Given the description of an element on the screen output the (x, y) to click on. 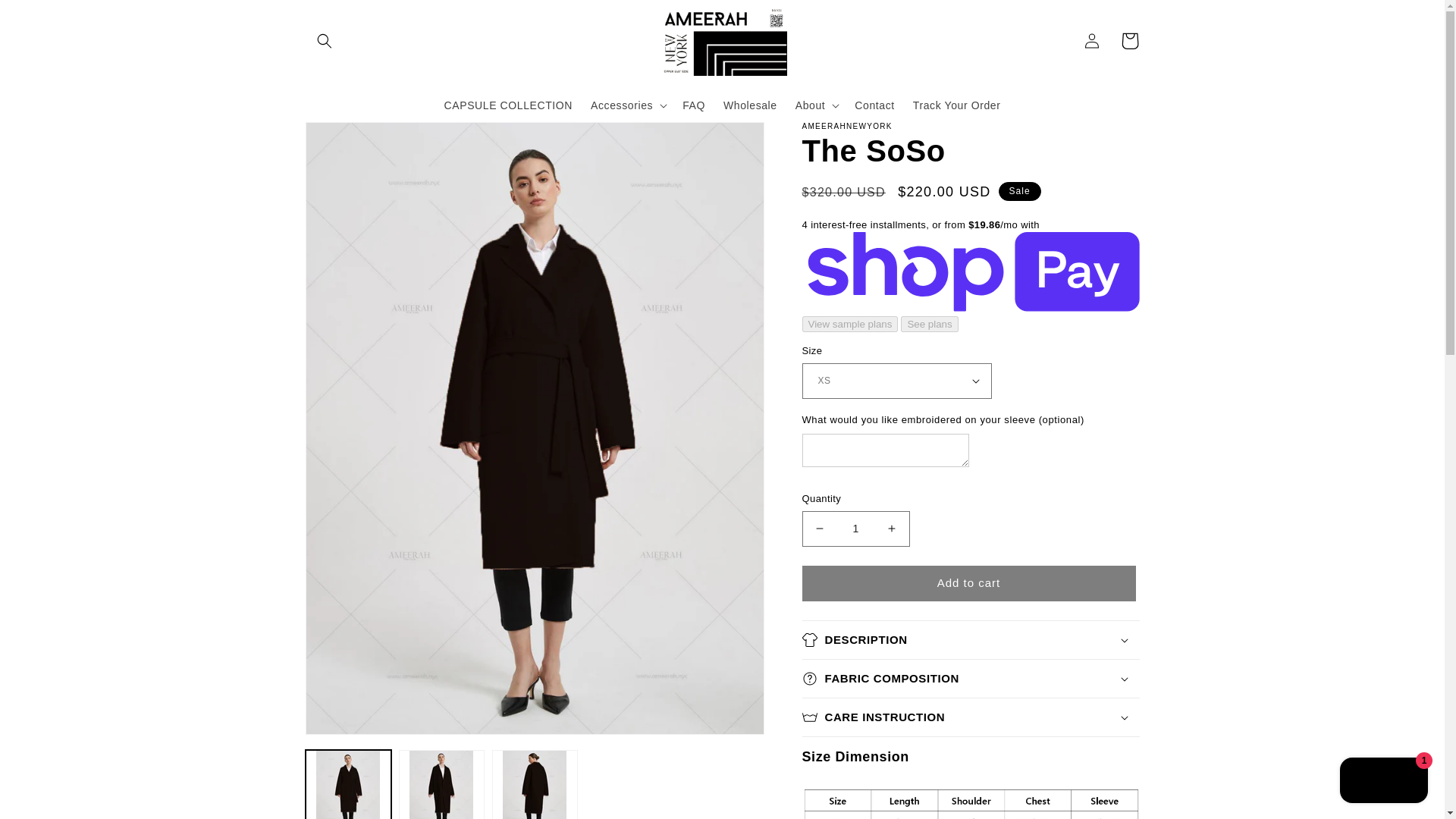
Log in (1090, 40)
Skip to product information (350, 139)
Skip to content (45, 17)
FAQ (693, 105)
1 (856, 529)
Contact (873, 105)
CAPSULE COLLECTION (508, 105)
Shopify online store chat (1383, 781)
Track Your Order (957, 105)
Cart (1128, 40)
Wholesale (750, 105)
